Given the description of an element on the screen output the (x, y) to click on. 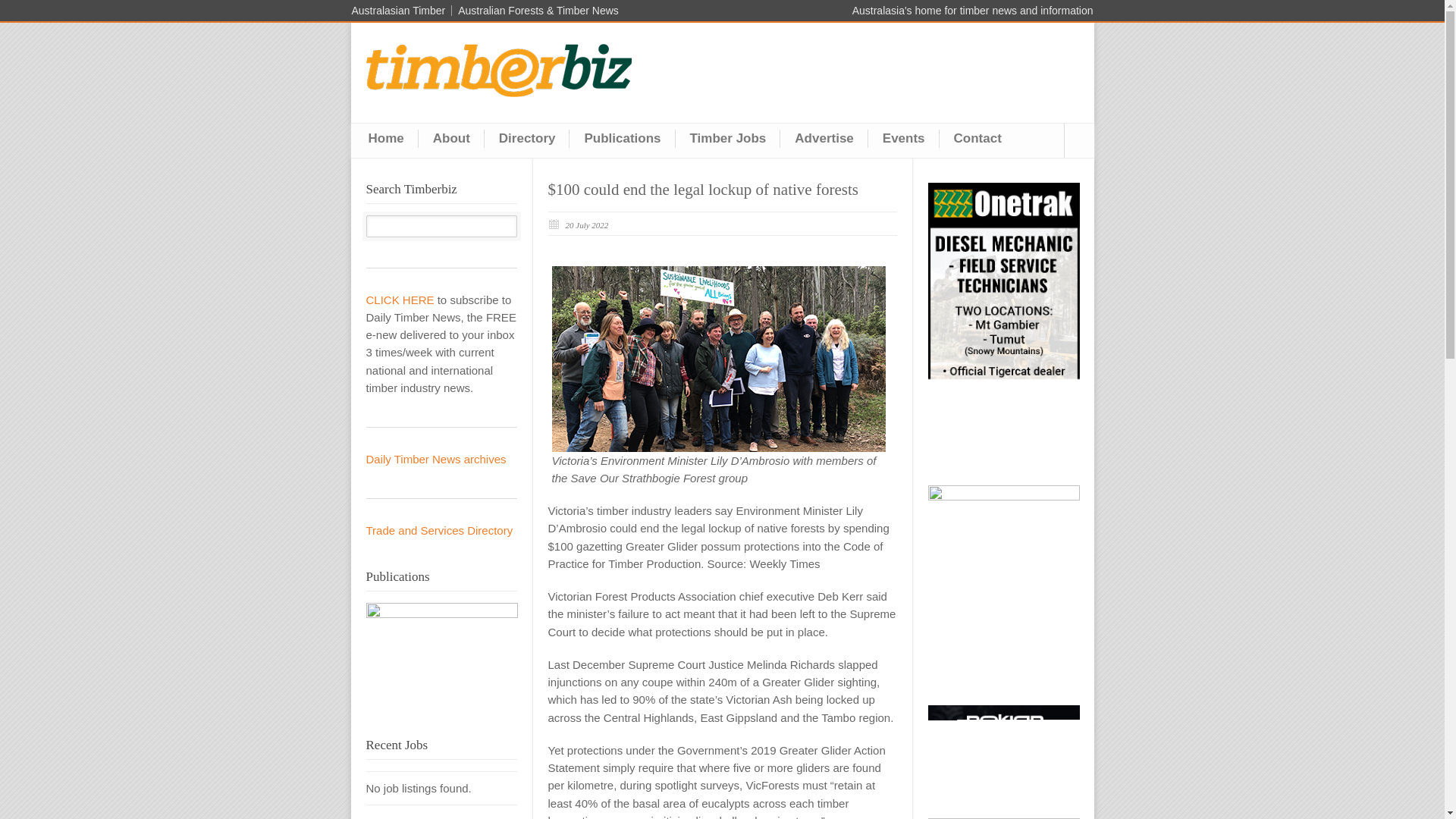
Australasian Timber (402, 9)
CLICK HERE (399, 299)
Advertise (823, 138)
Contact (976, 138)
Publications (622, 138)
About (451, 138)
Directory (527, 138)
Events (903, 138)
Daily Timber News archives (435, 459)
Timber Jobs (727, 138)
